Given the description of an element on the screen output the (x, y) to click on. 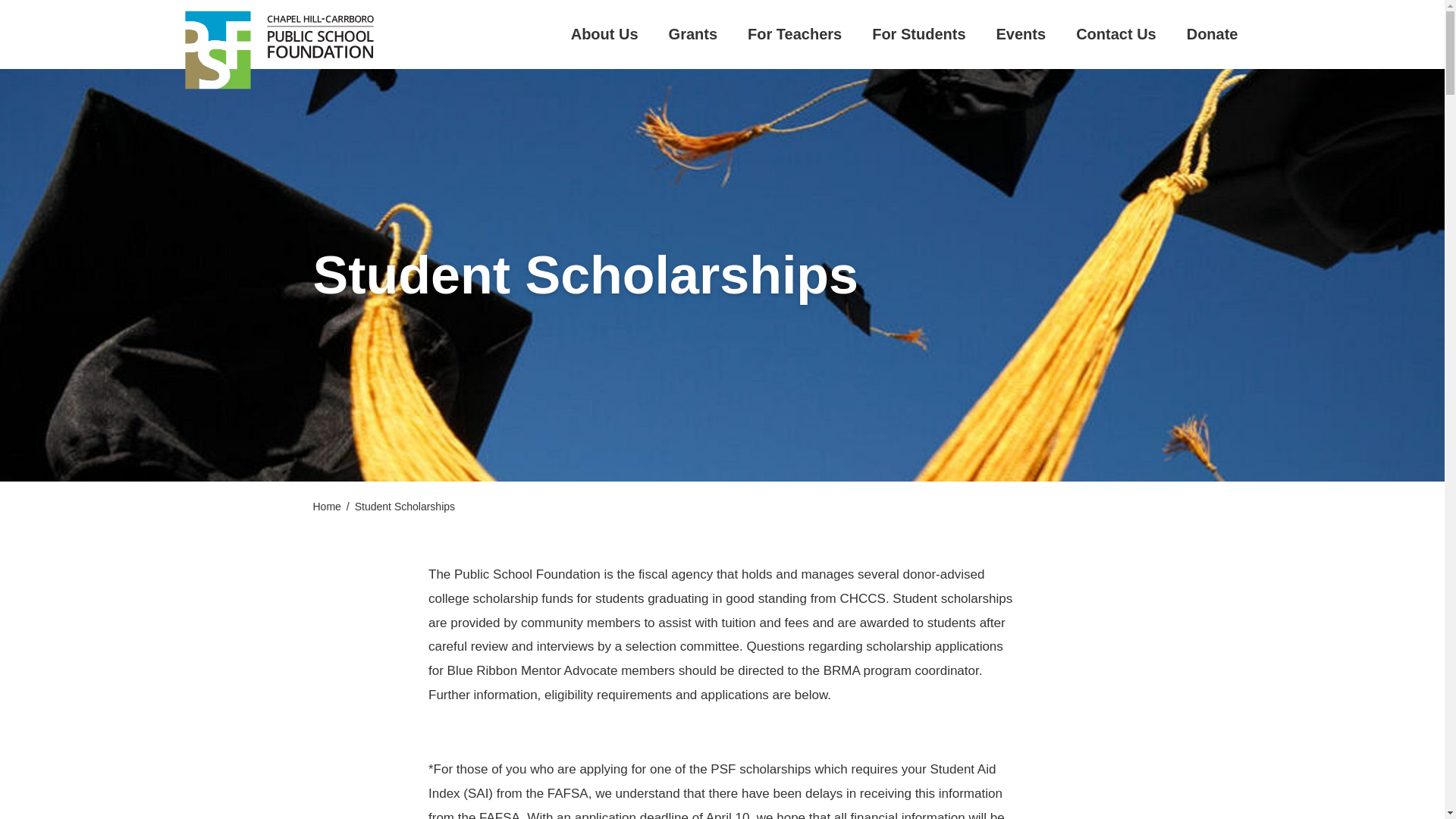
Grants (692, 33)
Public School Foundation Homepage (274, 48)
Donate (1212, 33)
Events (1020, 33)
For Students (918, 33)
Contact Us (1115, 33)
For Teachers (794, 33)
About Us (604, 33)
Home (326, 506)
